Given the description of an element on the screen output the (x, y) to click on. 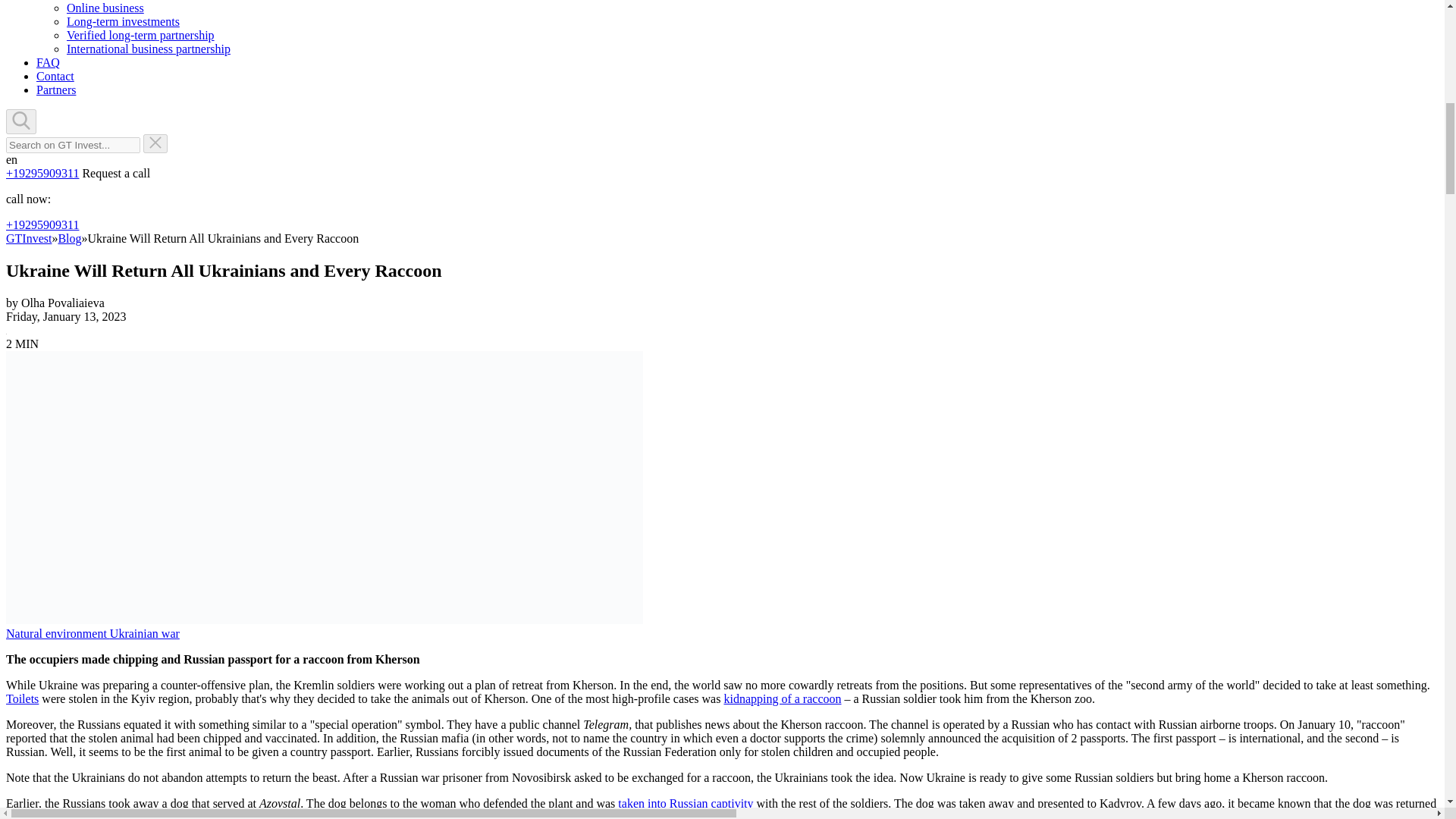
Natural environment (57, 633)
Ukrainian war (144, 633)
